Given the description of an element on the screen output the (x, y) to click on. 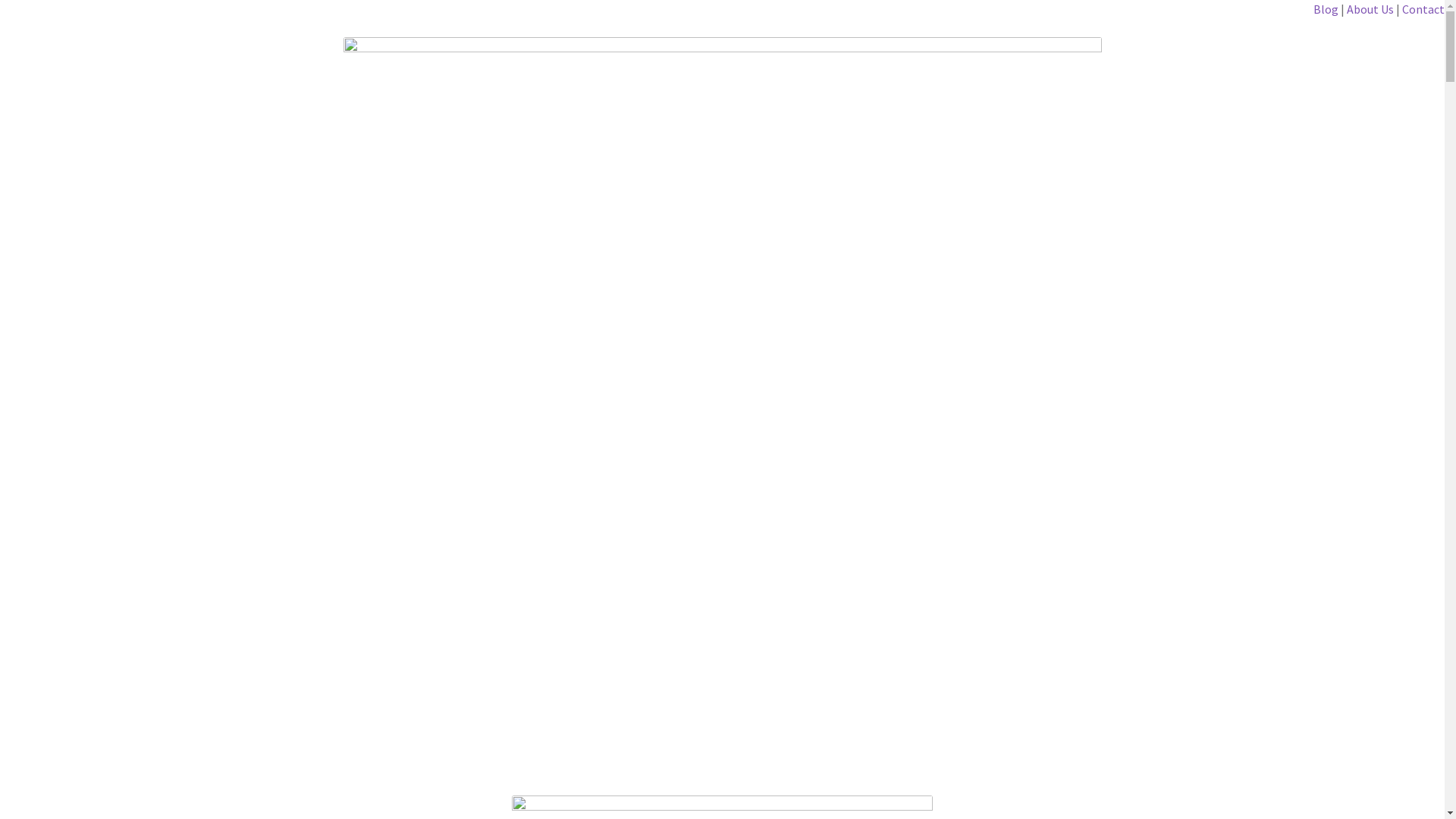
Blog Element type: text (1326, 8)
Contact Element type: text (1423, 8)
About Us Element type: text (1369, 8)
